Given the description of an element on the screen output the (x, y) to click on. 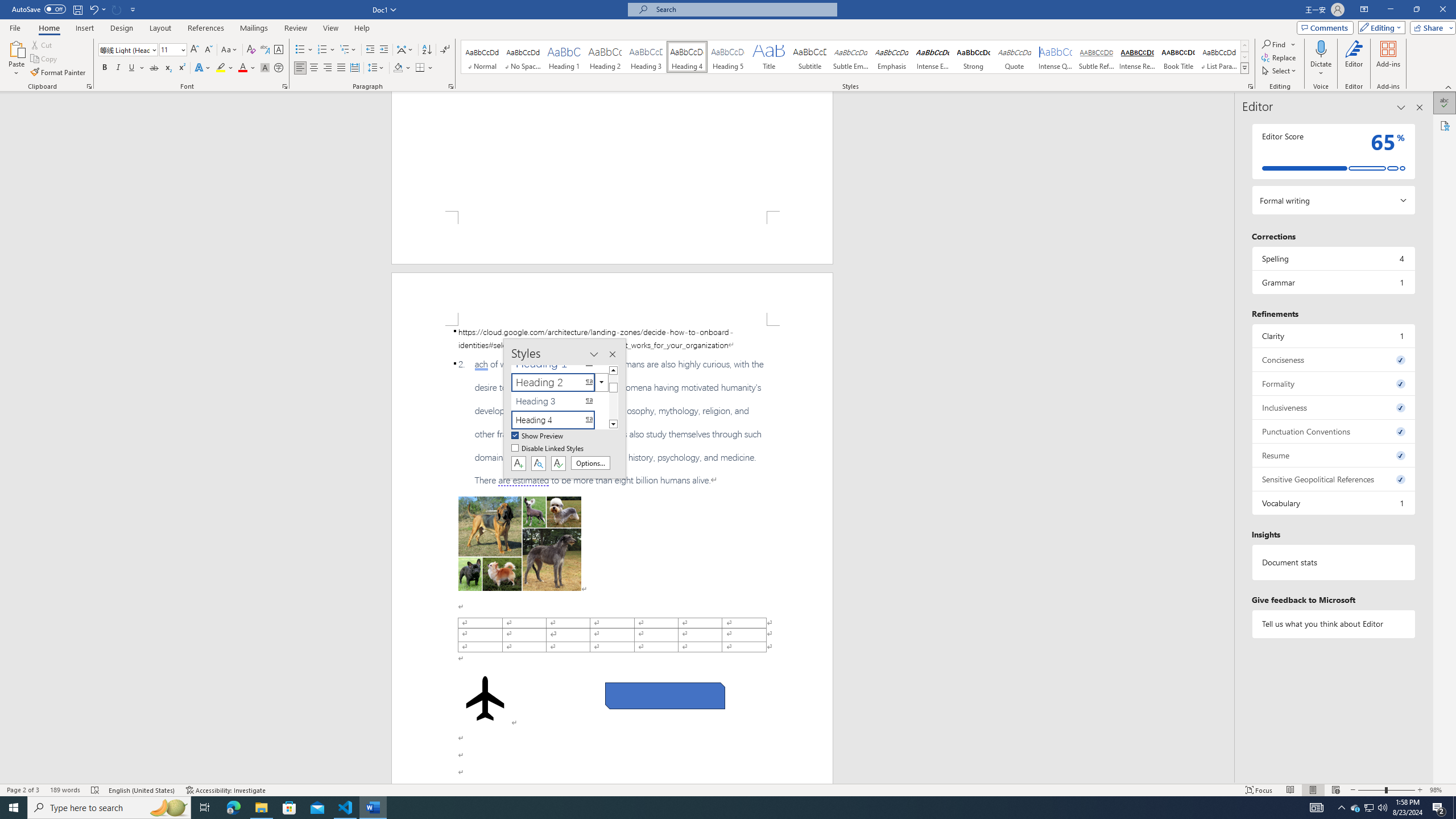
Heading 3 (646, 56)
Intense Reference (1136, 56)
Clarity, 1 issue. Press space or enter to review items. (1333, 335)
Header -Section 1- (611, 298)
Spelling and Grammar Check Errors (94, 790)
Emphasis (891, 56)
